Given the description of an element on the screen output the (x, y) to click on. 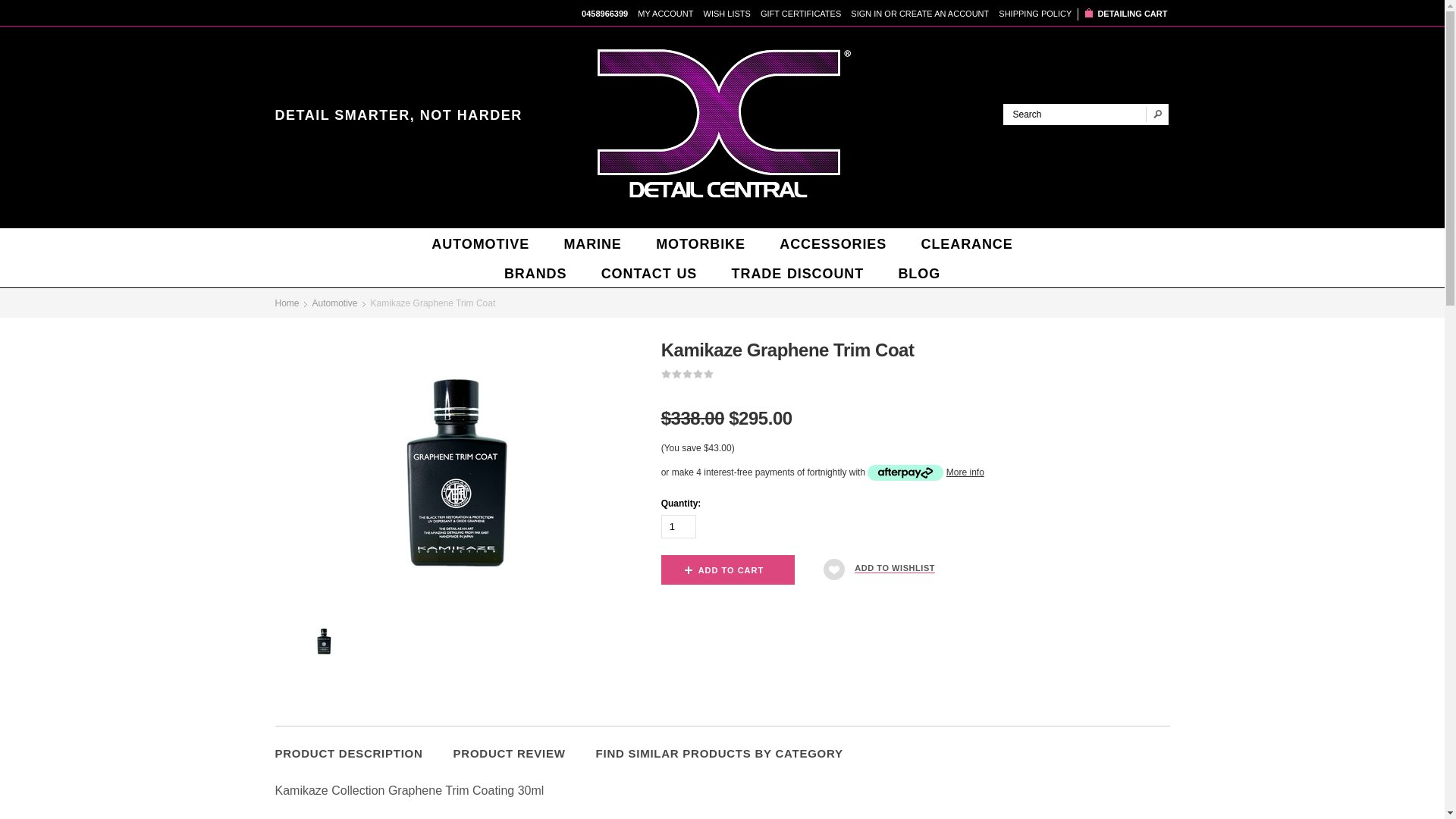
Image 1 (323, 641)
1 (678, 526)
Search (1156, 114)
Shipping Policy (1034, 13)
View Cart (1087, 14)
Add To Cart (730, 570)
Search (1074, 114)
Add to Wishlist (894, 567)
Image 1 (454, 474)
View Cart (1133, 13)
